Given the description of an element on the screen output the (x, y) to click on. 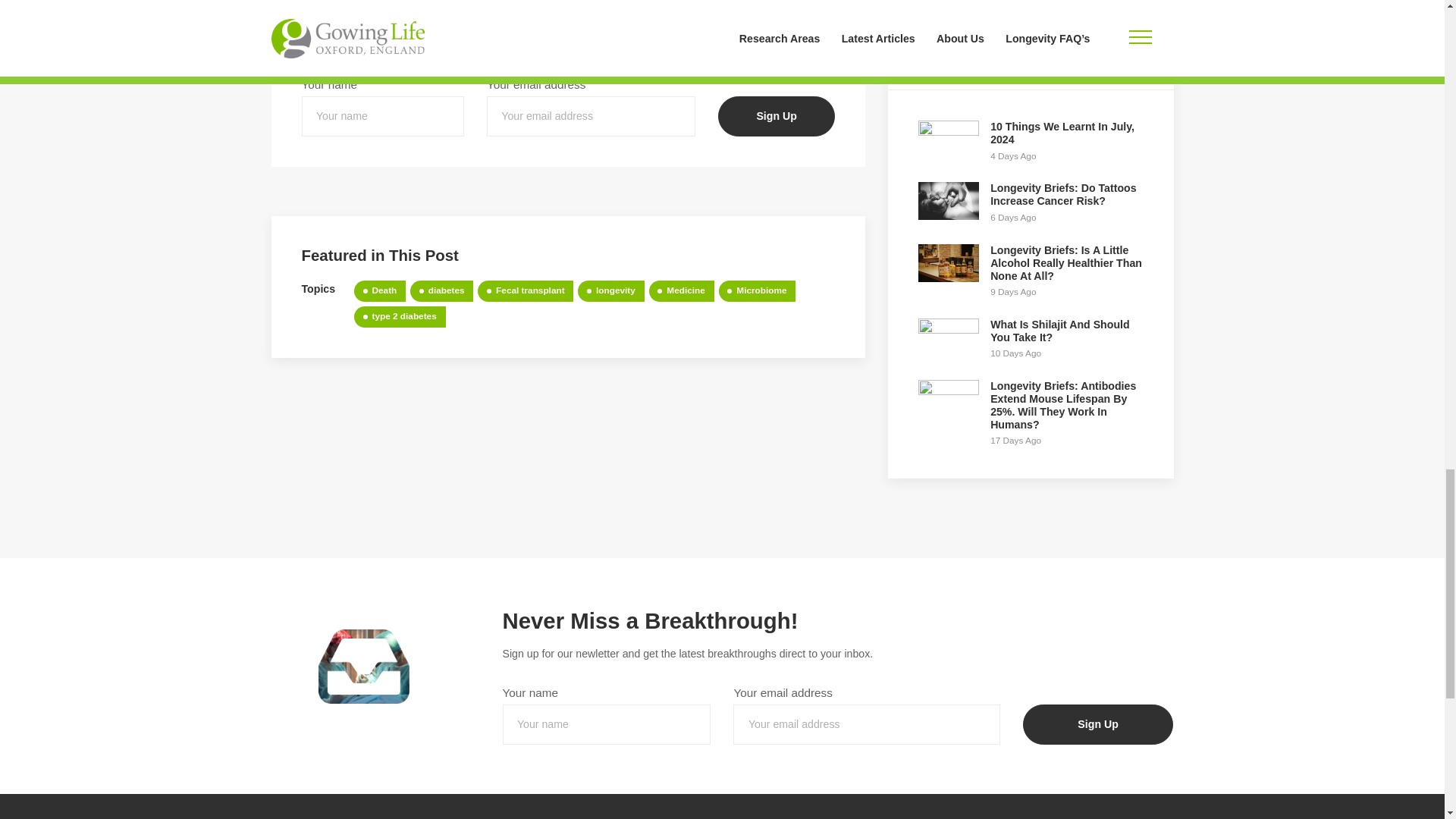
Death (379, 291)
Sign Up (775, 116)
Sign Up (1098, 724)
Sign Up (775, 116)
diabetes (441, 291)
